Given the description of an element on the screen output the (x, y) to click on. 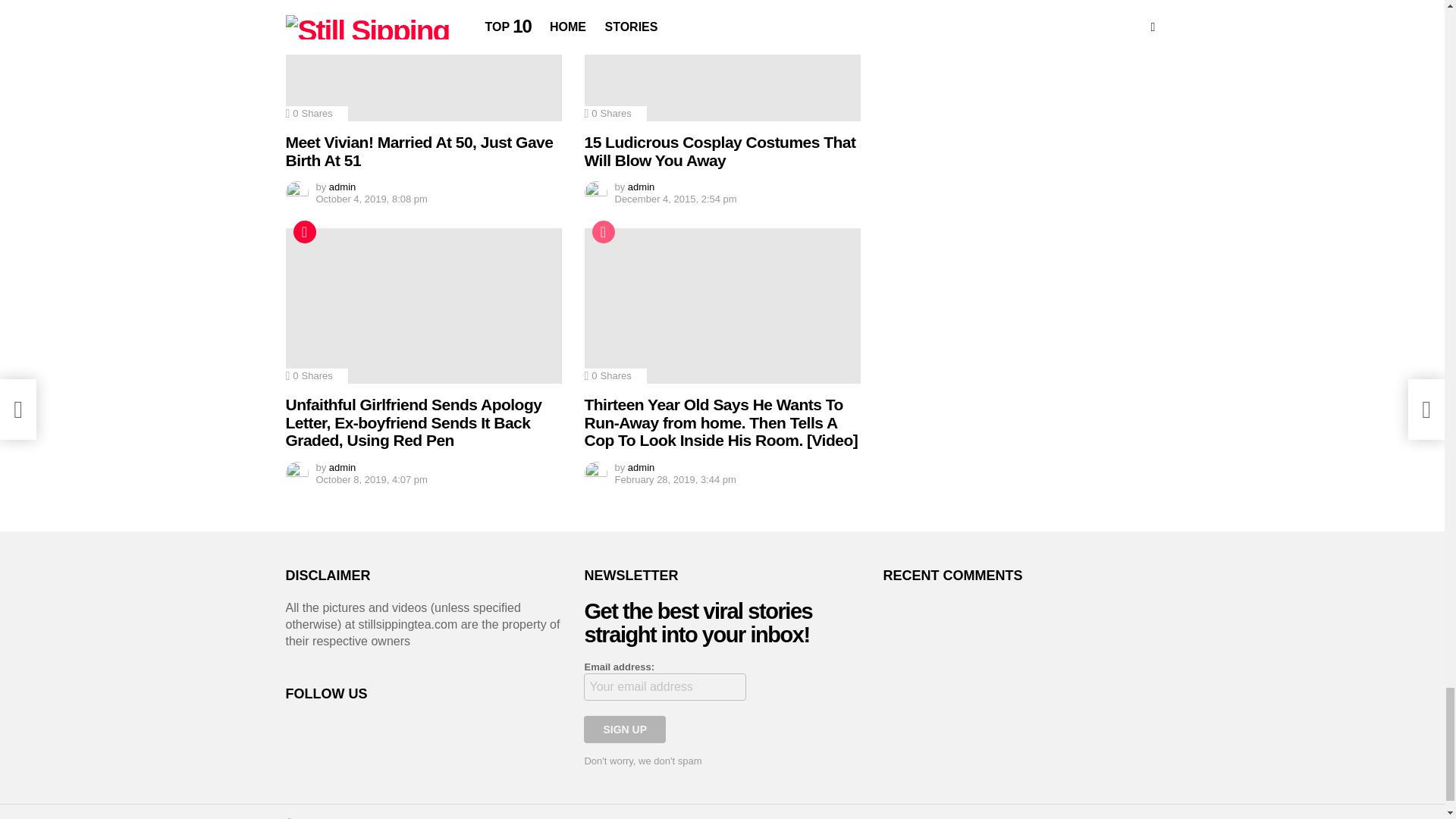
Sign up (624, 728)
